Given the description of an element on the screen output the (x, y) to click on. 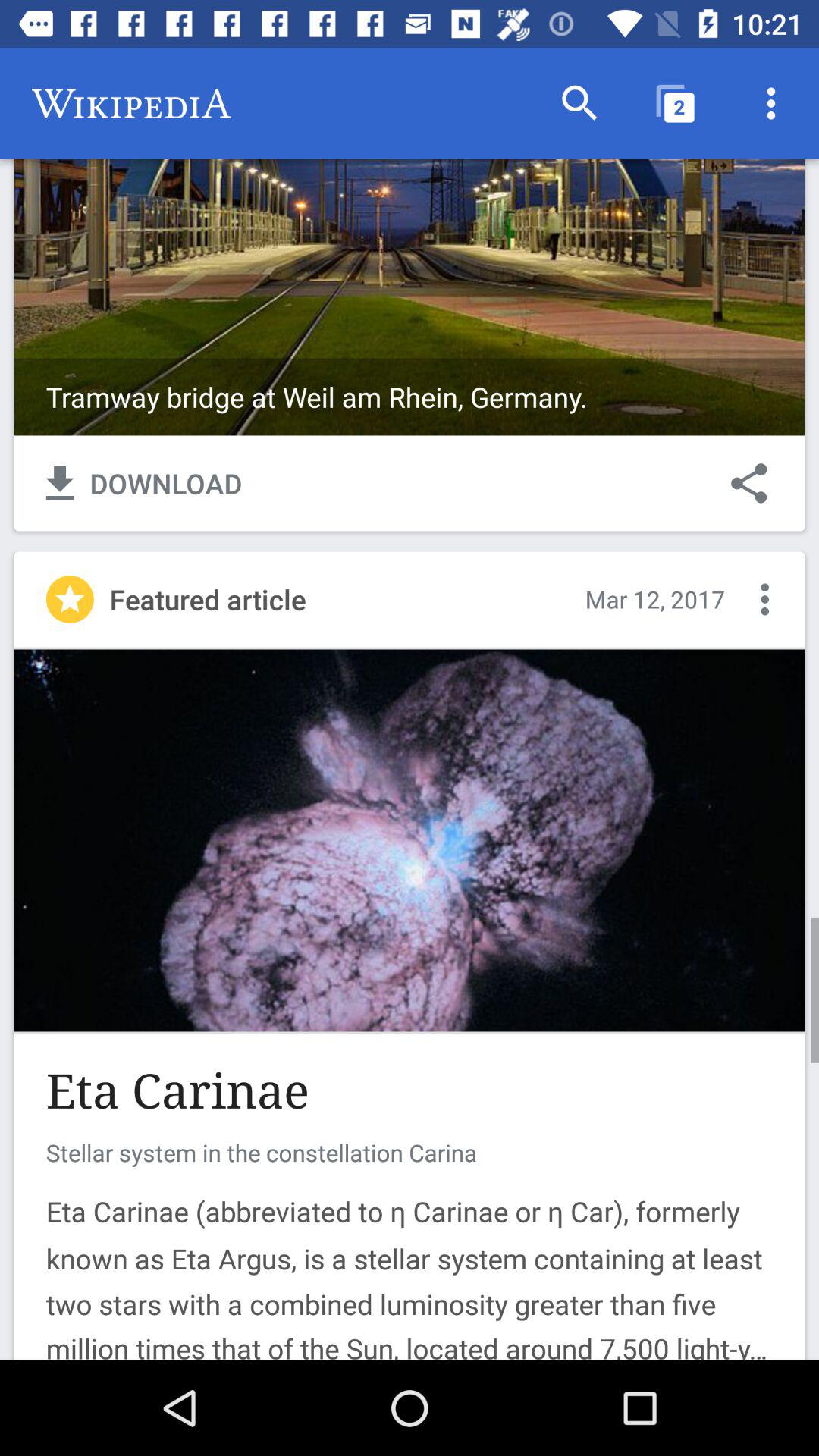
select the item next to download (748, 483)
